Given the description of an element on the screen output the (x, y) to click on. 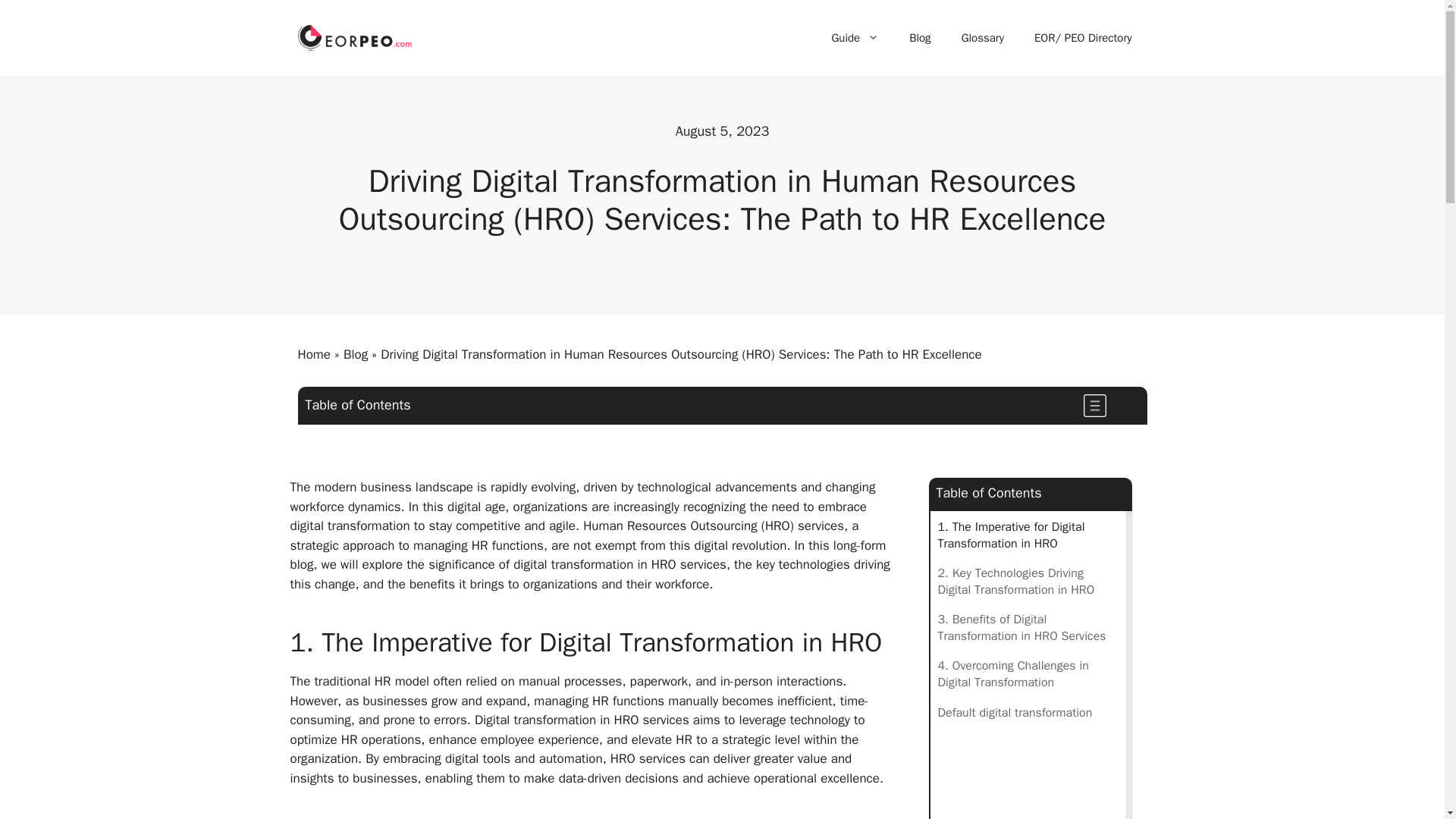
Blog (355, 354)
Glossary (982, 37)
1. The Imperative for Digital Transformation in HRO (1027, 535)
2. Key Technologies Driving Digital Transformation in HRO (1027, 581)
Blog (918, 37)
3. Benefits of Digital Transformation in HRO Services (1027, 627)
Home (313, 354)
Guide (854, 37)
4. Overcoming Challenges in Digital Transformation (1027, 674)
Default digital transformation (1014, 712)
